Given the description of an element on the screen output the (x, y) to click on. 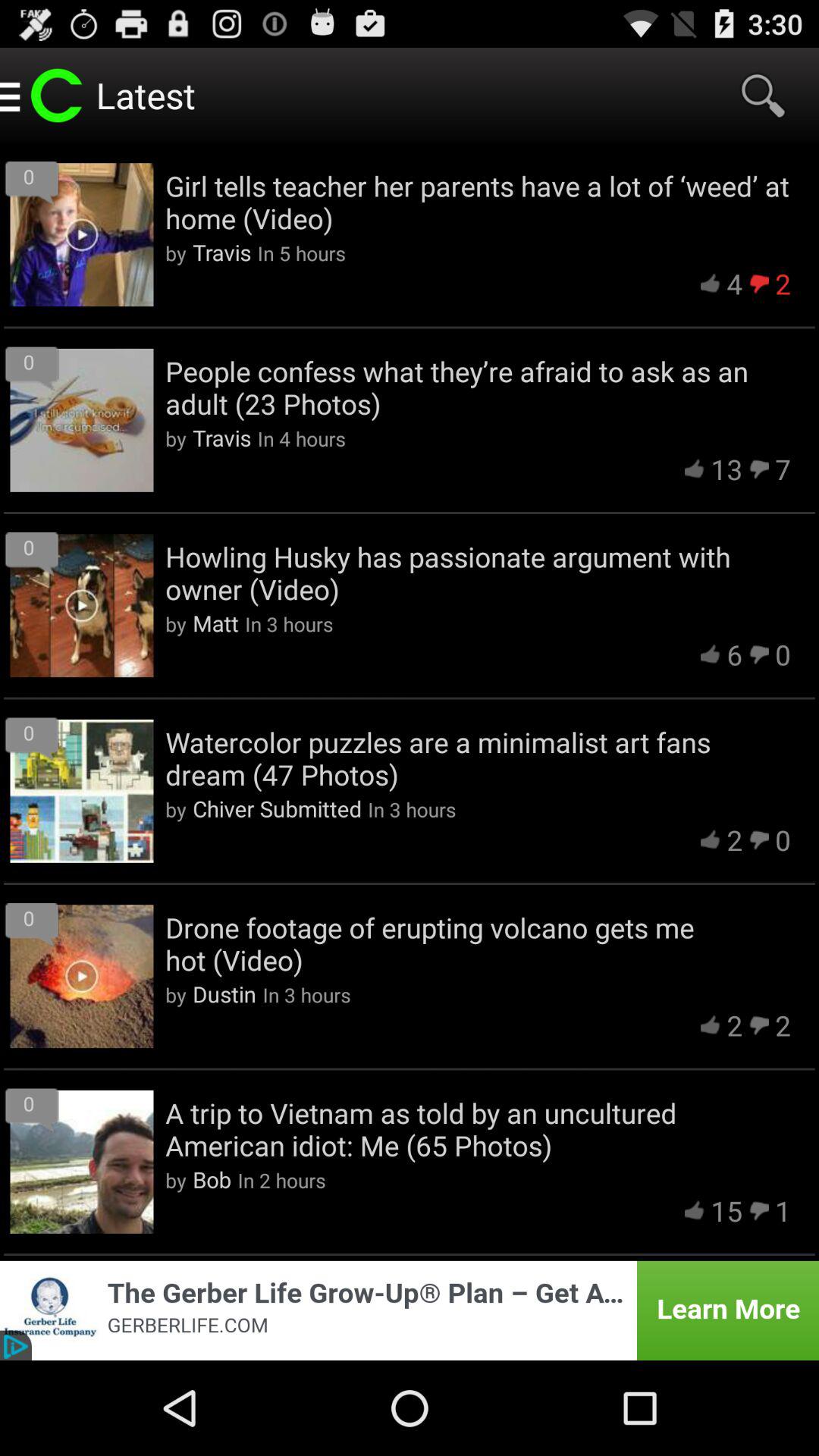
click item above drone footage of item (276, 808)
